Given the description of an element on the screen output the (x, y) to click on. 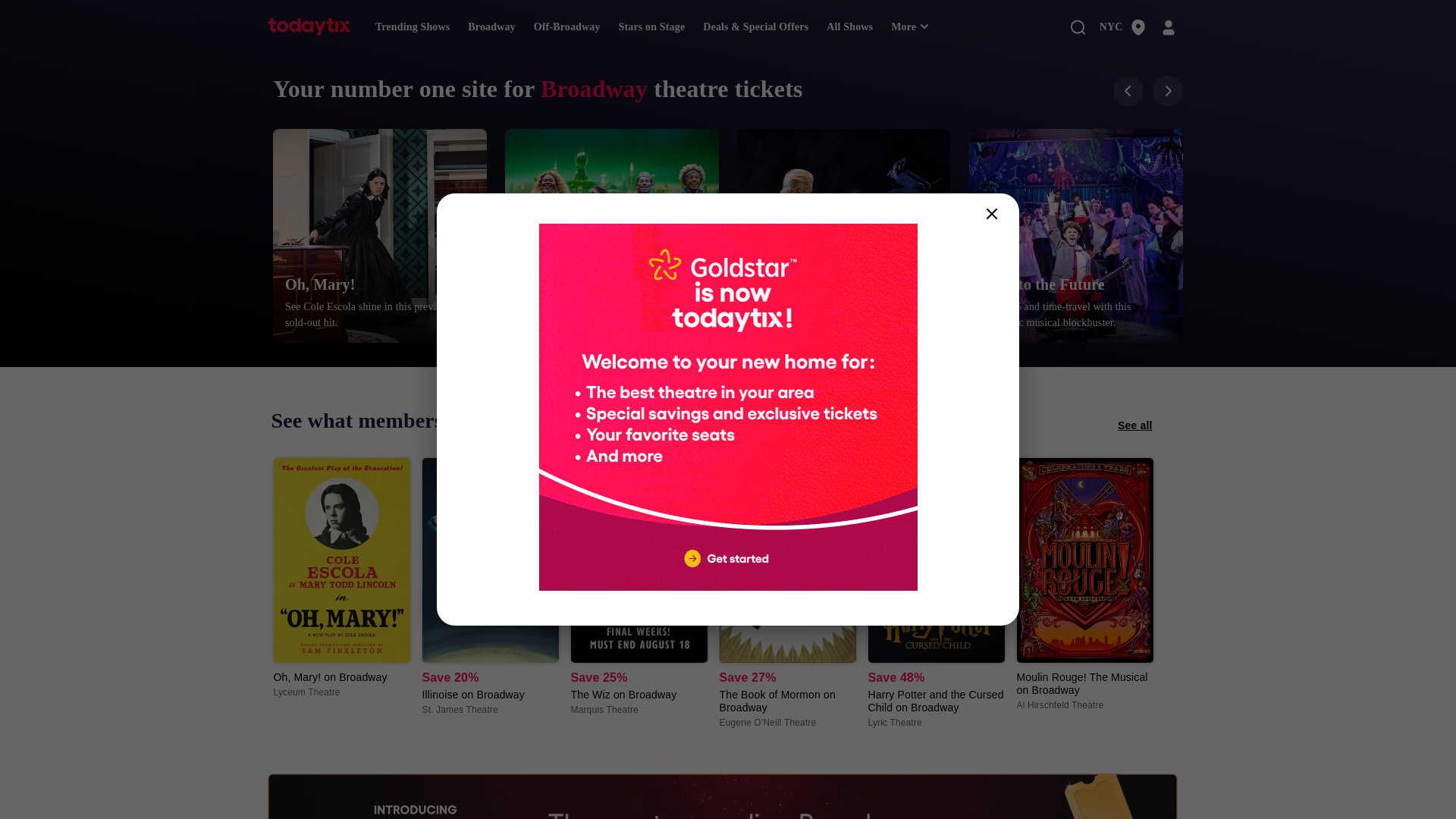
All Shows (849, 26)
Off-Broadway (566, 26)
See all (1134, 425)
Broadway (491, 26)
Trending Shows (412, 26)
Stars on Stage (651, 26)
